Given the description of an element on the screen output the (x, y) to click on. 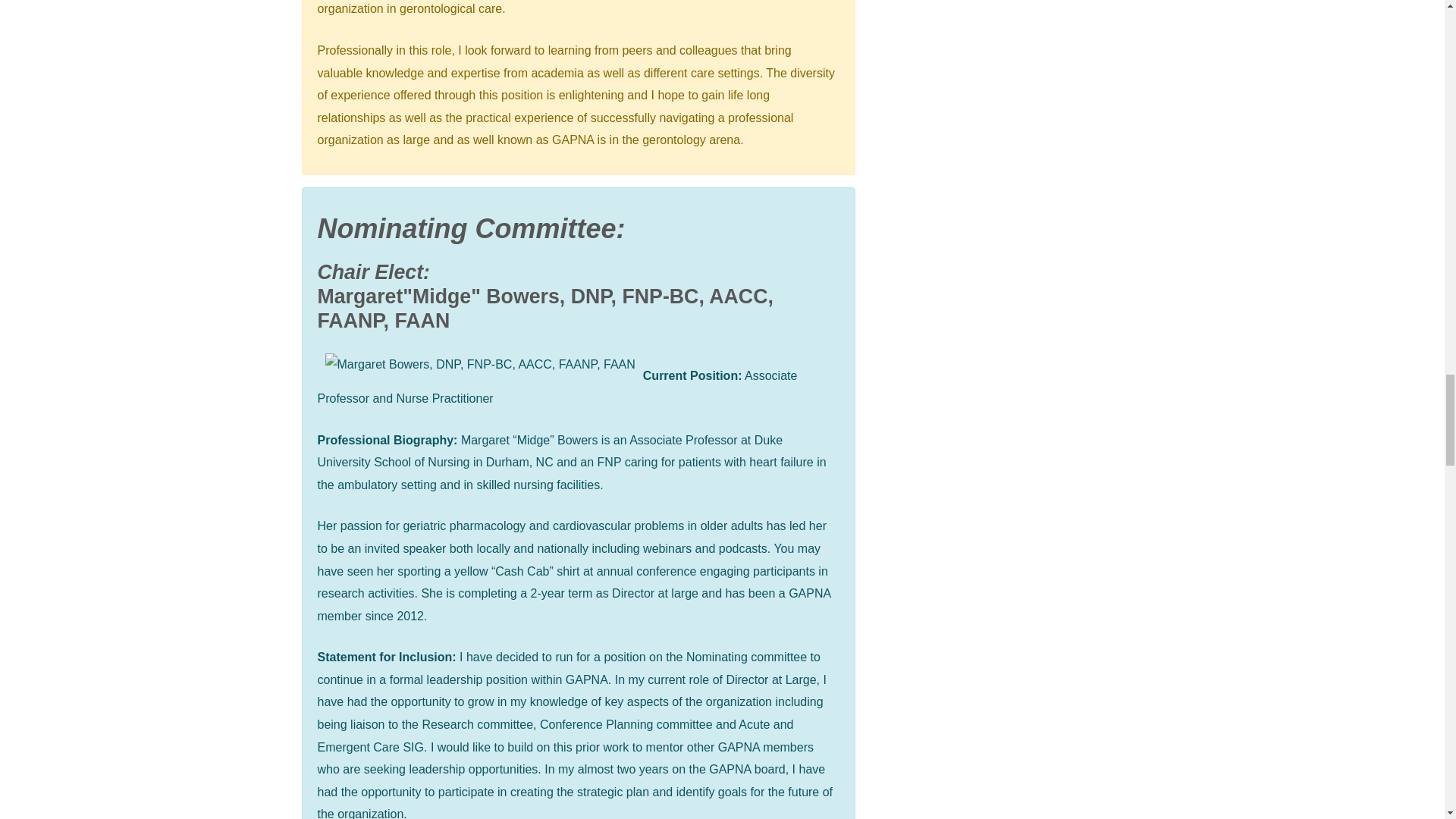
Margaret Bowers, DNP, FNP-BC, AACC, FAANP, FAAN (479, 363)
